Given the description of an element on the screen output the (x, y) to click on. 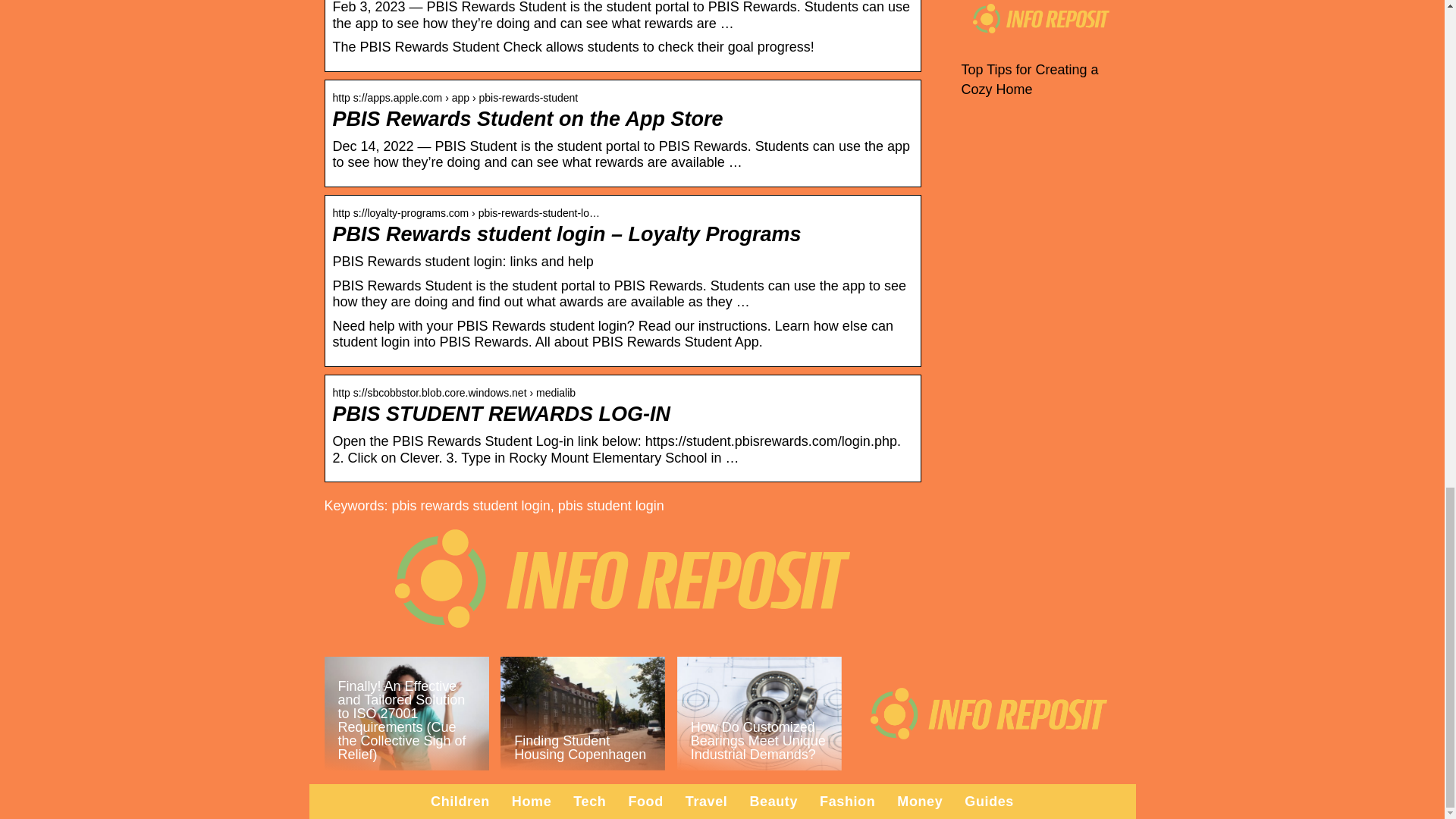
Top Tips for Creating a Cozy Home (1029, 79)
Money (919, 801)
Guides (988, 801)
Beauty (773, 801)
Travel (706, 801)
Food (644, 801)
Home (531, 801)
Tech (589, 801)
Finding Student Housing Copenhagen (582, 713)
Children (459, 801)
Fashion (847, 801)
How Do Customized Bearings Meet Unique Industrial Demands? (759, 713)
